Given the description of an element on the screen output the (x, y) to click on. 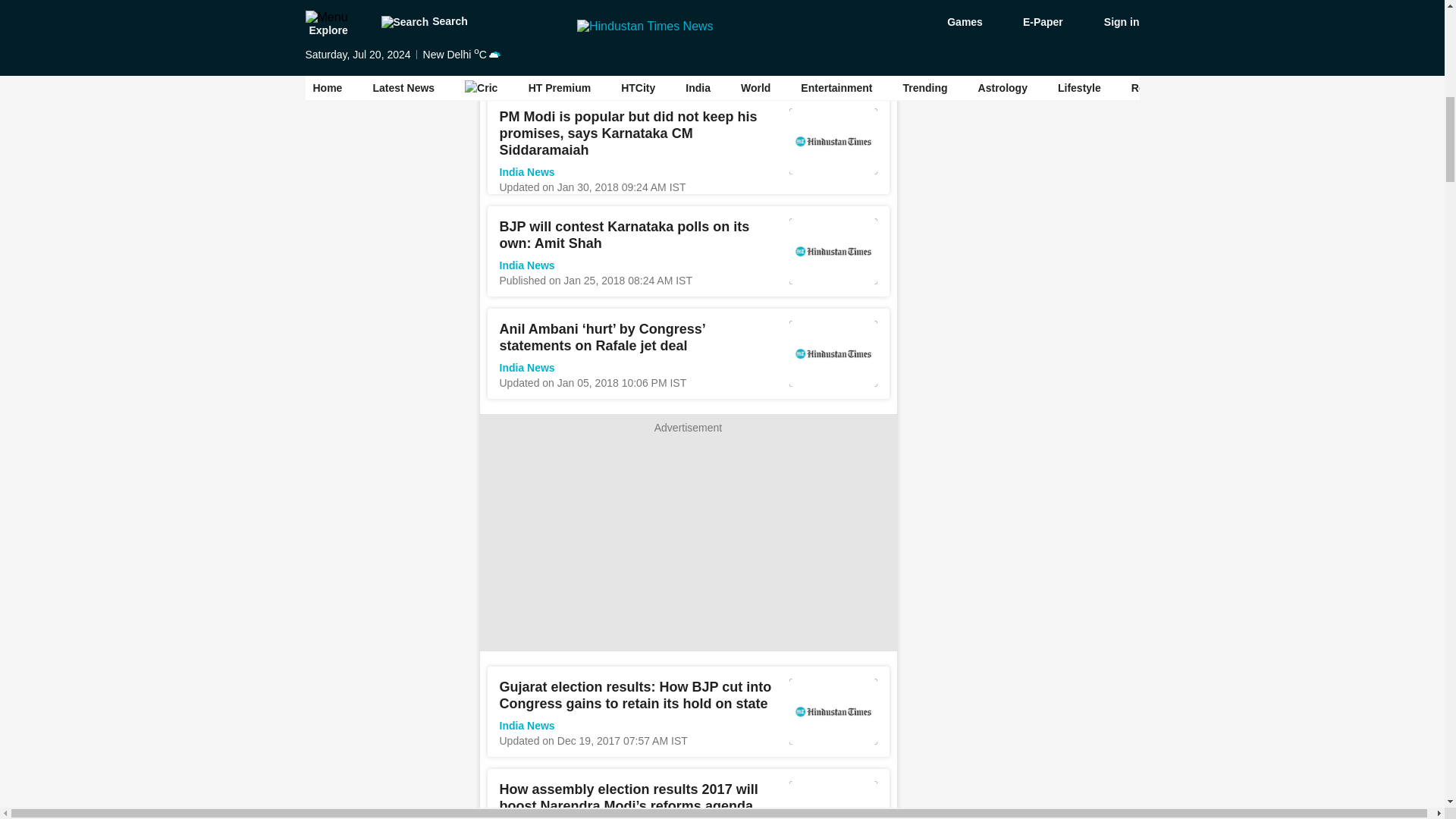
India News (526, 265)
BJP will contest Karnataka polls on its own: Amit Shah (624, 234)
India News (526, 172)
